Given the description of an element on the screen output the (x, y) to click on. 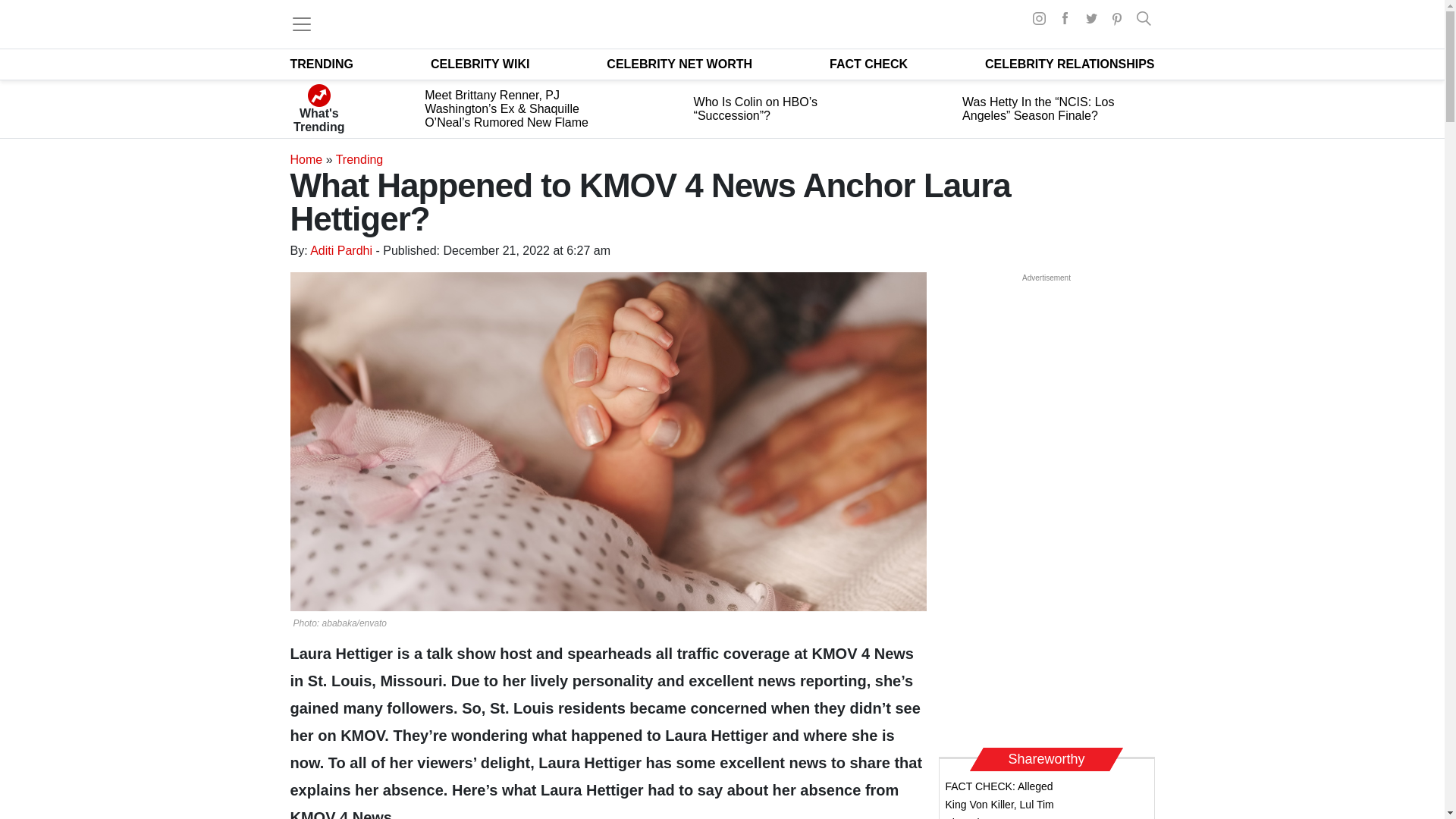
CELEBRITY RELATIONSHIPS (1069, 63)
FACT CHECK: Alleged King Von Killer, Lul Tim Shot Six... (998, 799)
Menu (301, 24)
FACT CHECK (868, 63)
Posts by Aditi Pardhi (341, 250)
CELEBRITY WIKI (479, 63)
Aditi Pardhi (341, 250)
CELEBRITY NET WORTH (679, 63)
Trending (360, 159)
Home (305, 159)
